Given the description of an element on the screen output the (x, y) to click on. 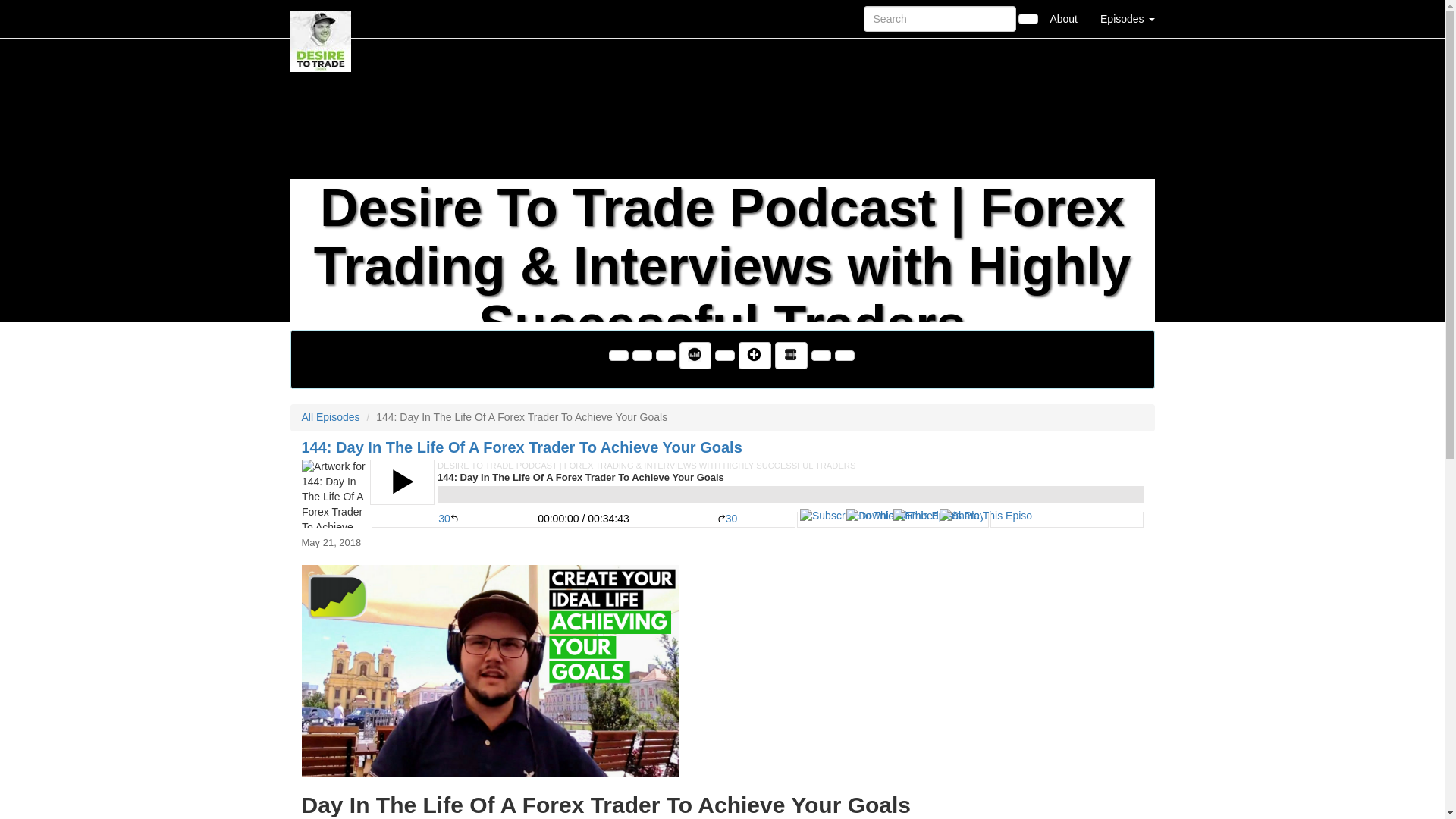
Episodes (1127, 18)
144: Day In The Life Of A Forex Trader To Achieve Your Goals (721, 493)
About (1063, 18)
Home Page (320, 18)
